Given the description of an element on the screen output the (x, y) to click on. 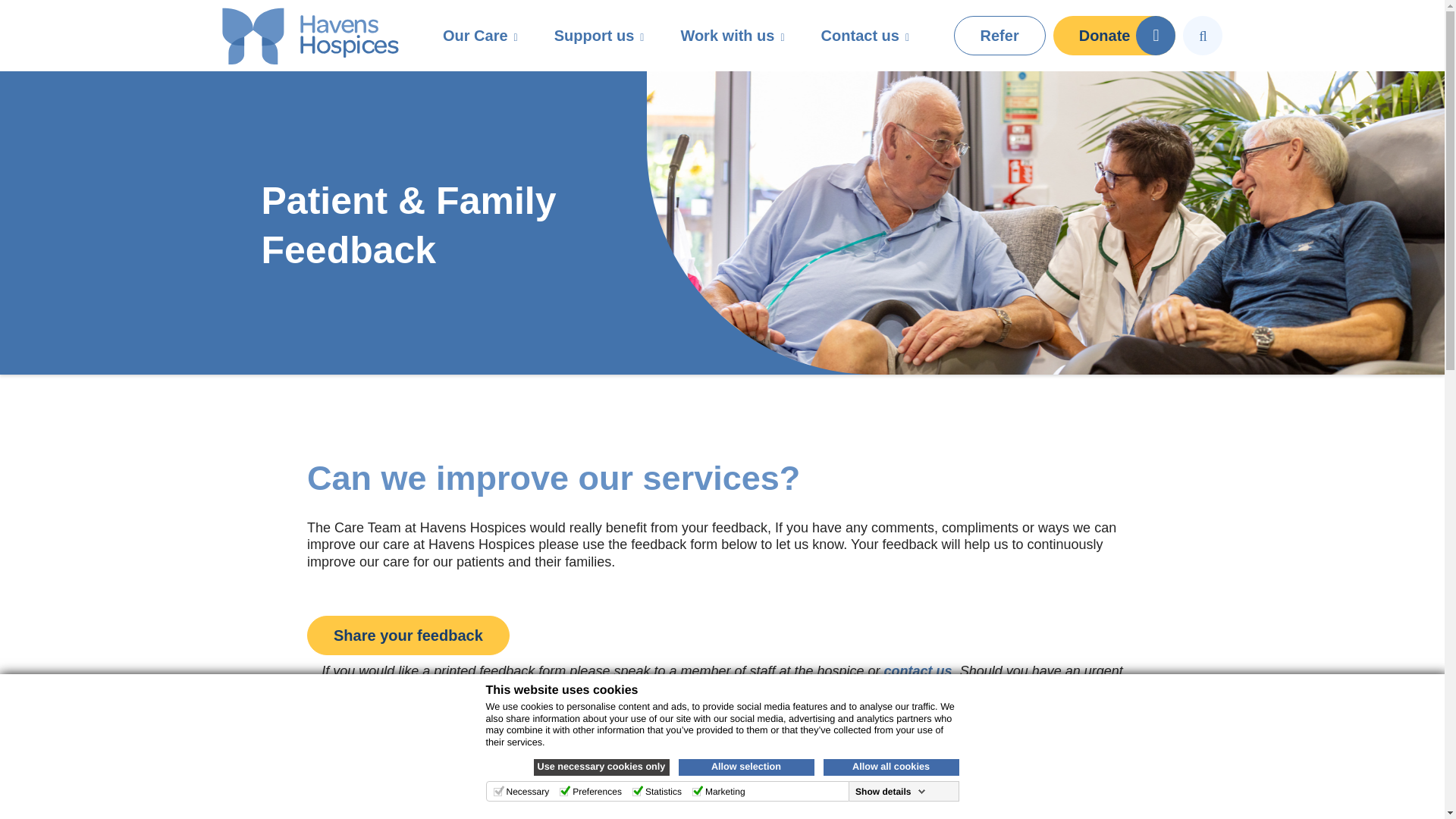
Allow selection (745, 767)
Use necessary cookies only (601, 767)
Show details (889, 791)
Allow all cookies (891, 767)
